Given the description of an element on the screen output the (x, y) to click on. 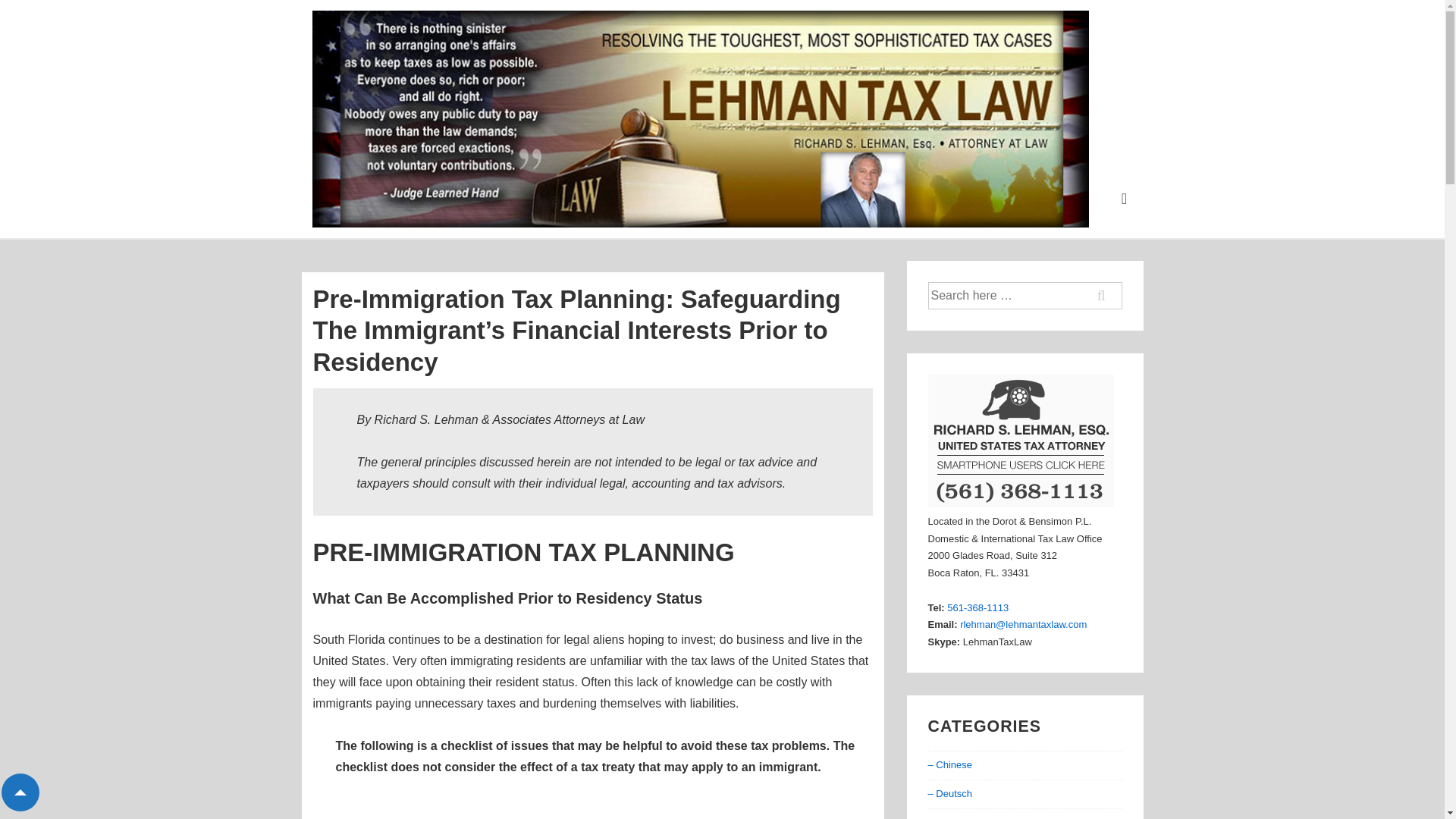
Contact Richard Lehman via email (1022, 624)
Telephone (978, 607)
561-368-1113 (978, 607)
MENU (1123, 198)
Top (20, 792)
